Given the description of an element on the screen output the (x, y) to click on. 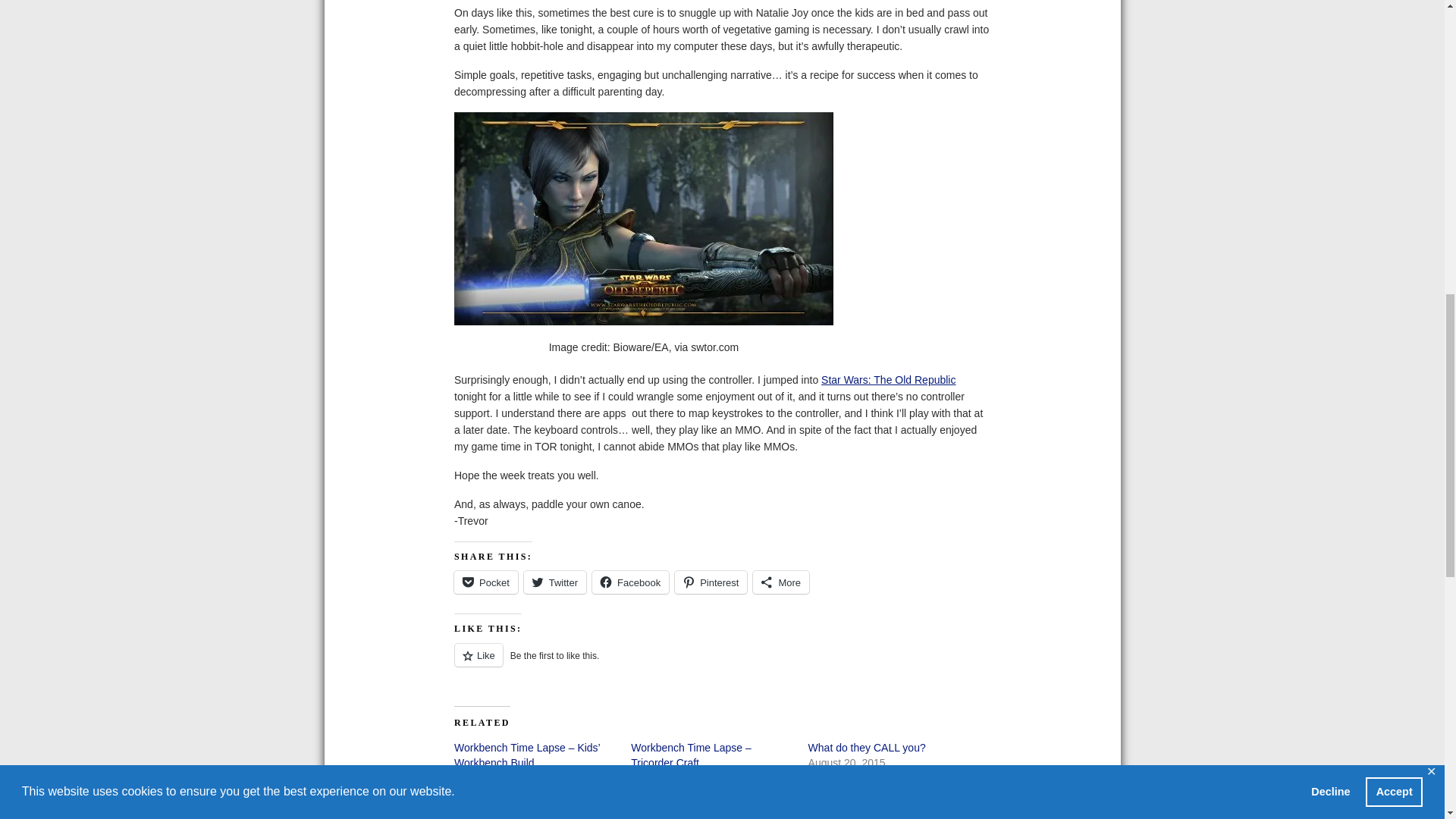
Facebook (630, 581)
Pinterest (710, 581)
Like or Reblog (722, 663)
More (780, 581)
Twitter (555, 581)
Click to share on Twitter (555, 581)
Pocket (486, 581)
Click to share on Pinterest (710, 581)
Click to share on Pocket (486, 581)
Star Wars: The Old Republic (888, 379)
Click to share on Facebook (630, 581)
